Given the description of an element on the screen output the (x, y) to click on. 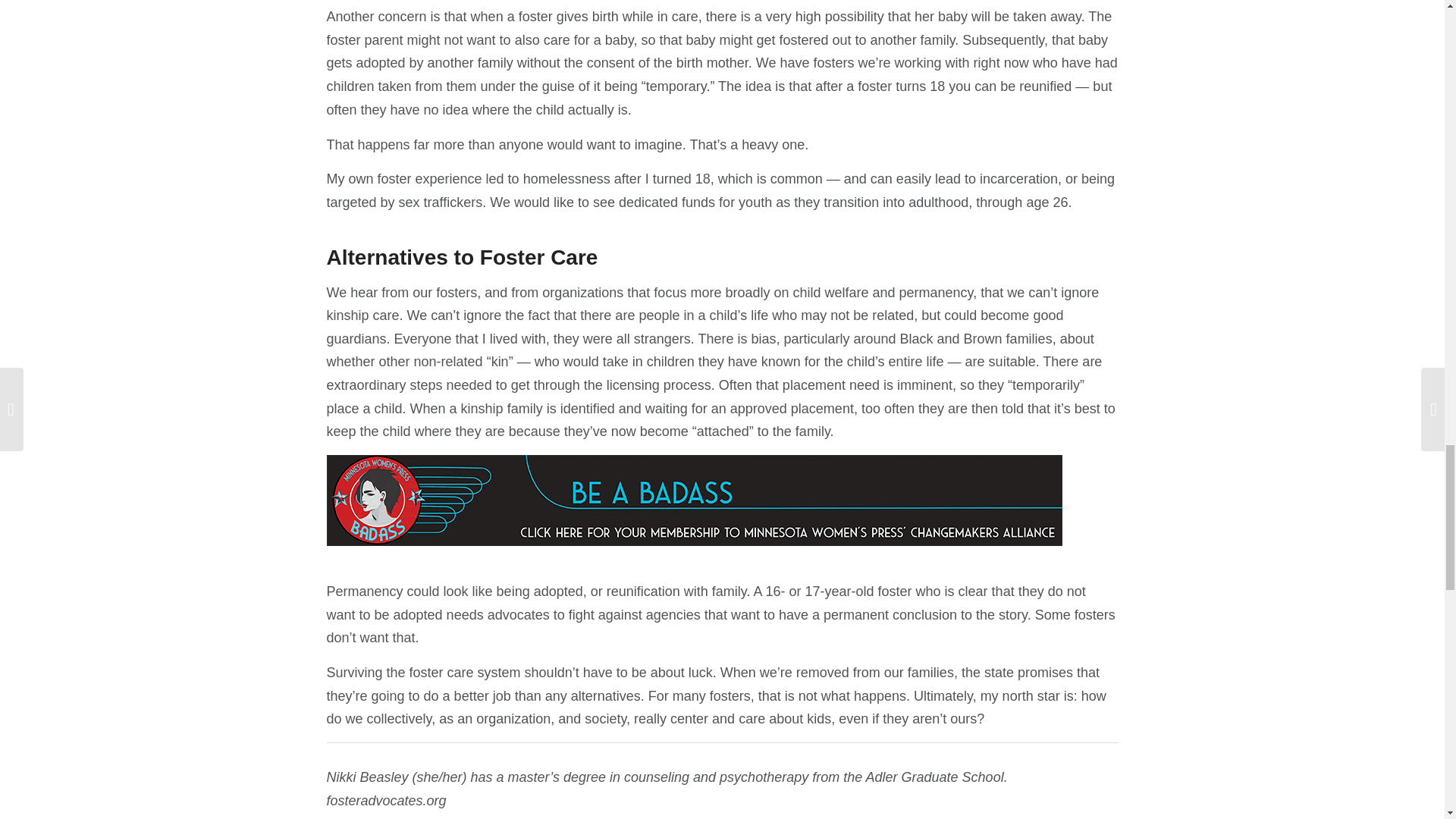
Page 7 (722, 792)
